Given the description of an element on the screen output the (x, y) to click on. 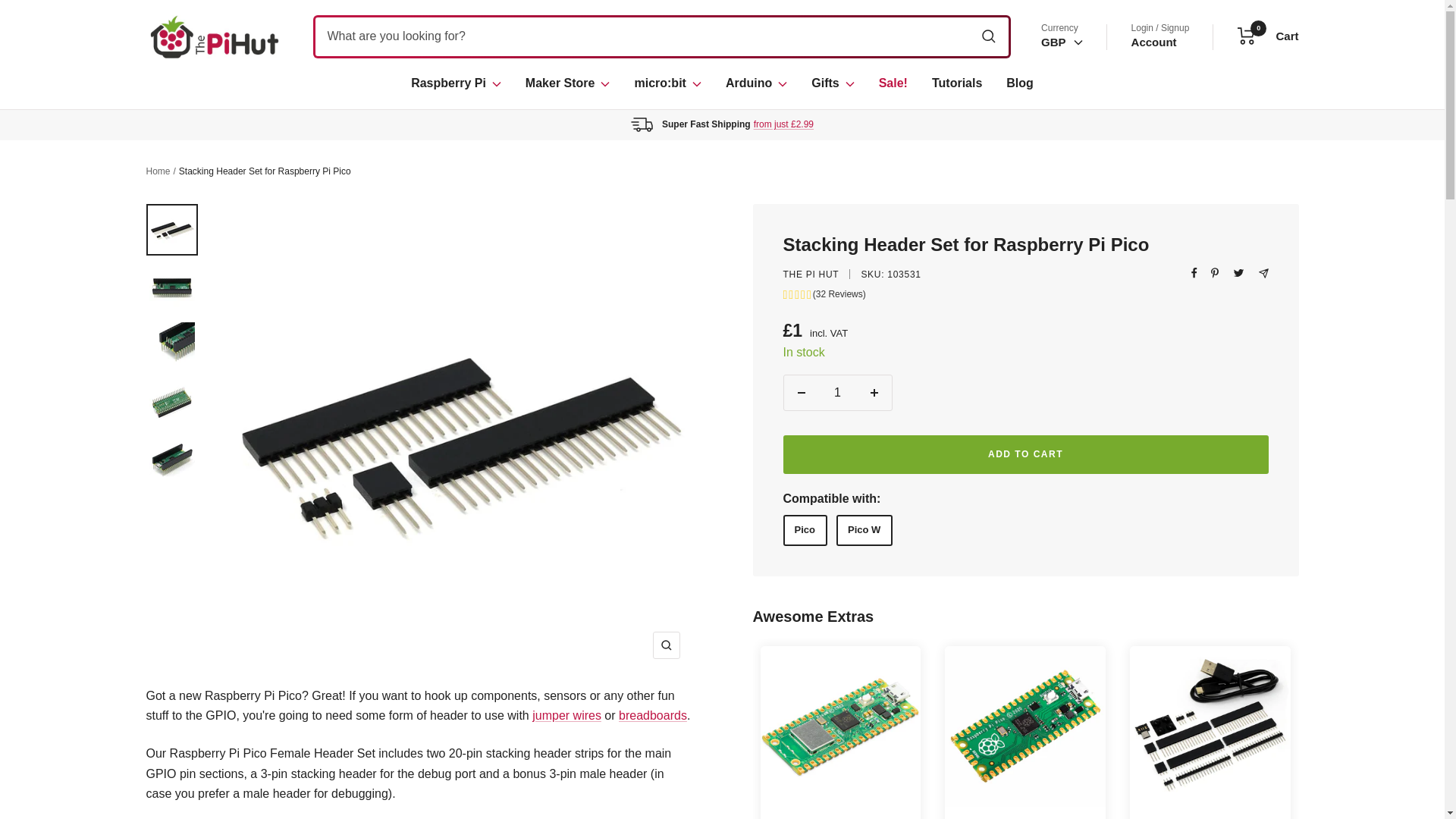
GBP (1058, 93)
THE PI HUT (810, 274)
1 (837, 392)
4.93 Stars - 453 Reviews (839, 817)
Gifts (831, 83)
Raspberry Pi (455, 83)
Sale! (893, 83)
Account (1153, 42)
Delivery (783, 123)
Arduino (756, 83)
Zoom (665, 645)
micro:bit (666, 83)
Home (157, 171)
The Pi Hut (213, 36)
USD (1058, 116)
